Given the description of an element on the screen output the (x, y) to click on. 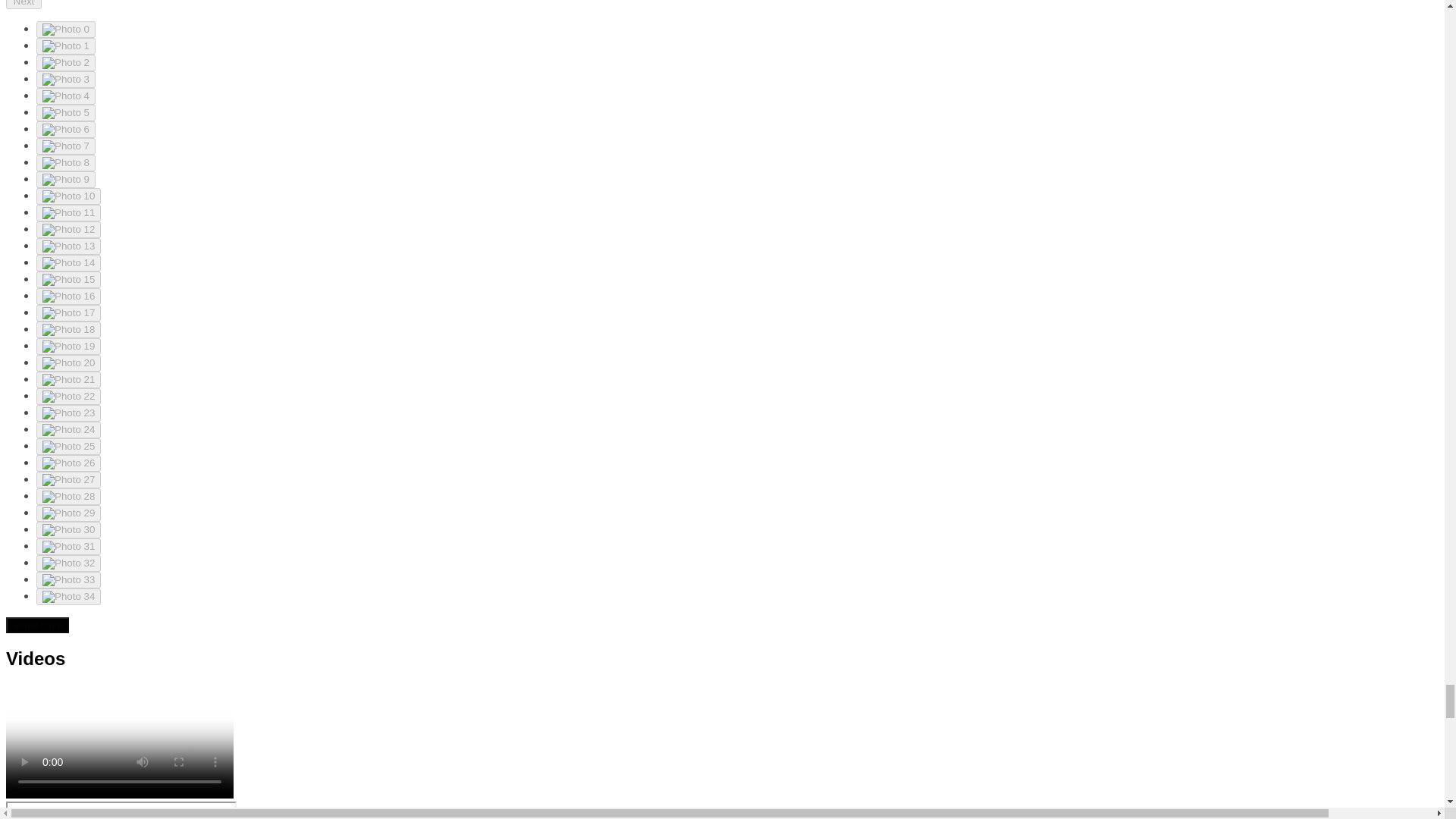
 Map (120, 810)
